Given the description of an element on the screen output the (x, y) to click on. 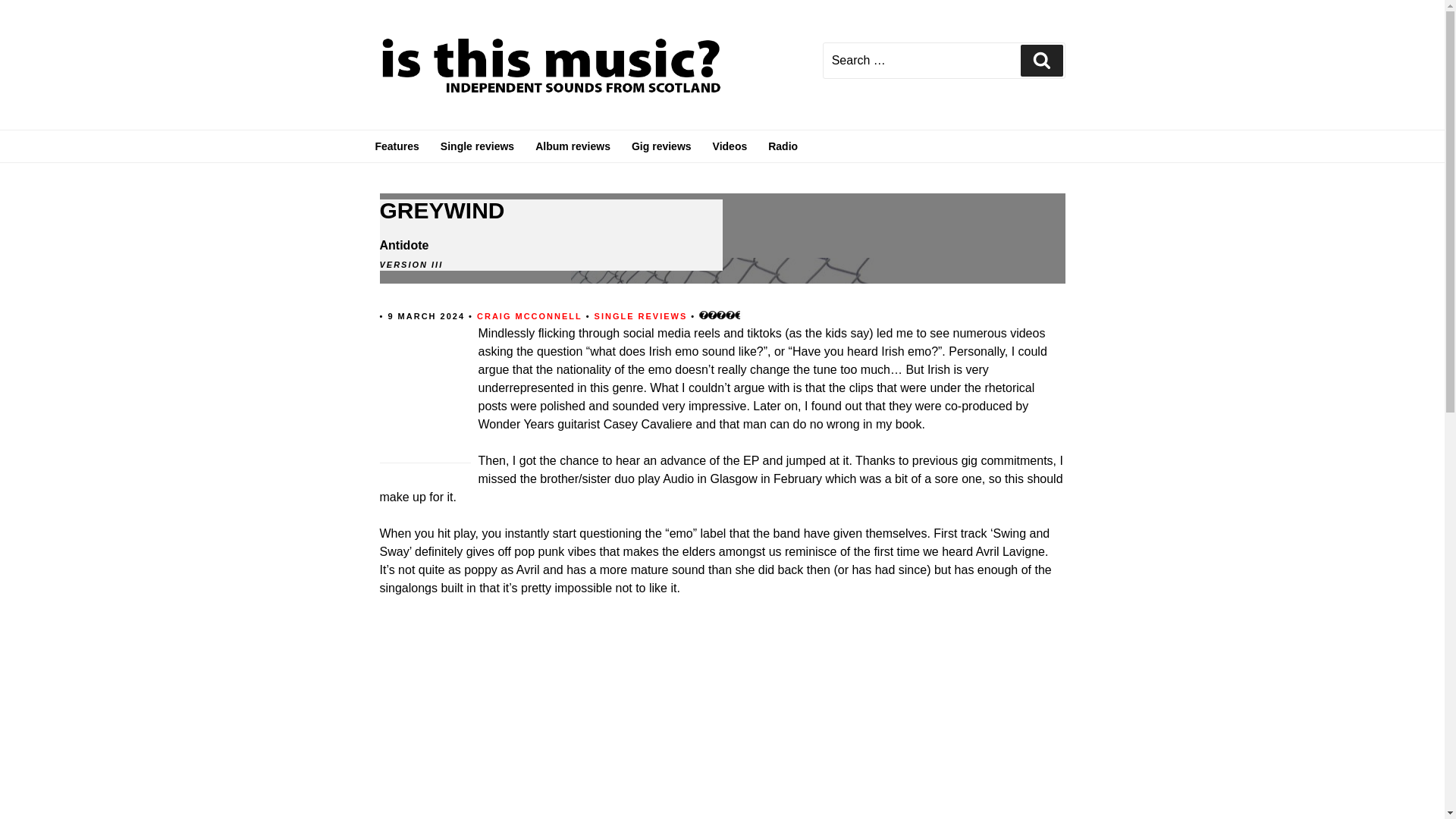
Videos (729, 145)
YouTube video player (590, 717)
SINGLE REVIEWS (642, 315)
Gig reviews (661, 145)
Radio (782, 145)
Single reviews (476, 145)
Search (1041, 60)
Features (396, 145)
Album reviews (572, 145)
CRAIG MCCONNELL (529, 315)
